Given the description of an element on the screen output the (x, y) to click on. 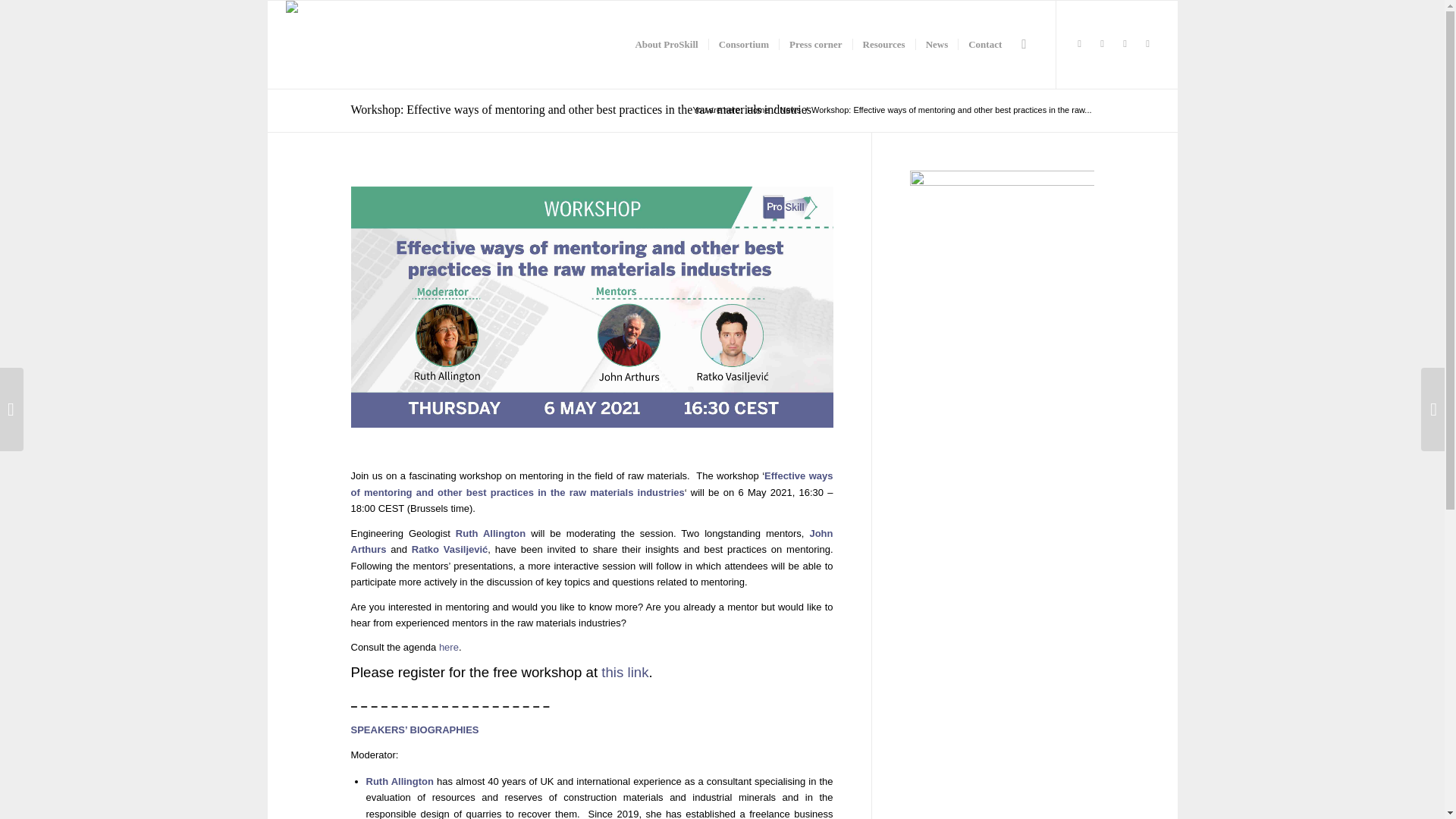
About ProSkill (665, 44)
News (790, 110)
here (448, 646)
this link (624, 672)
Home (757, 110)
ProSkill Project (757, 110)
